Given the description of an element on the screen output the (x, y) to click on. 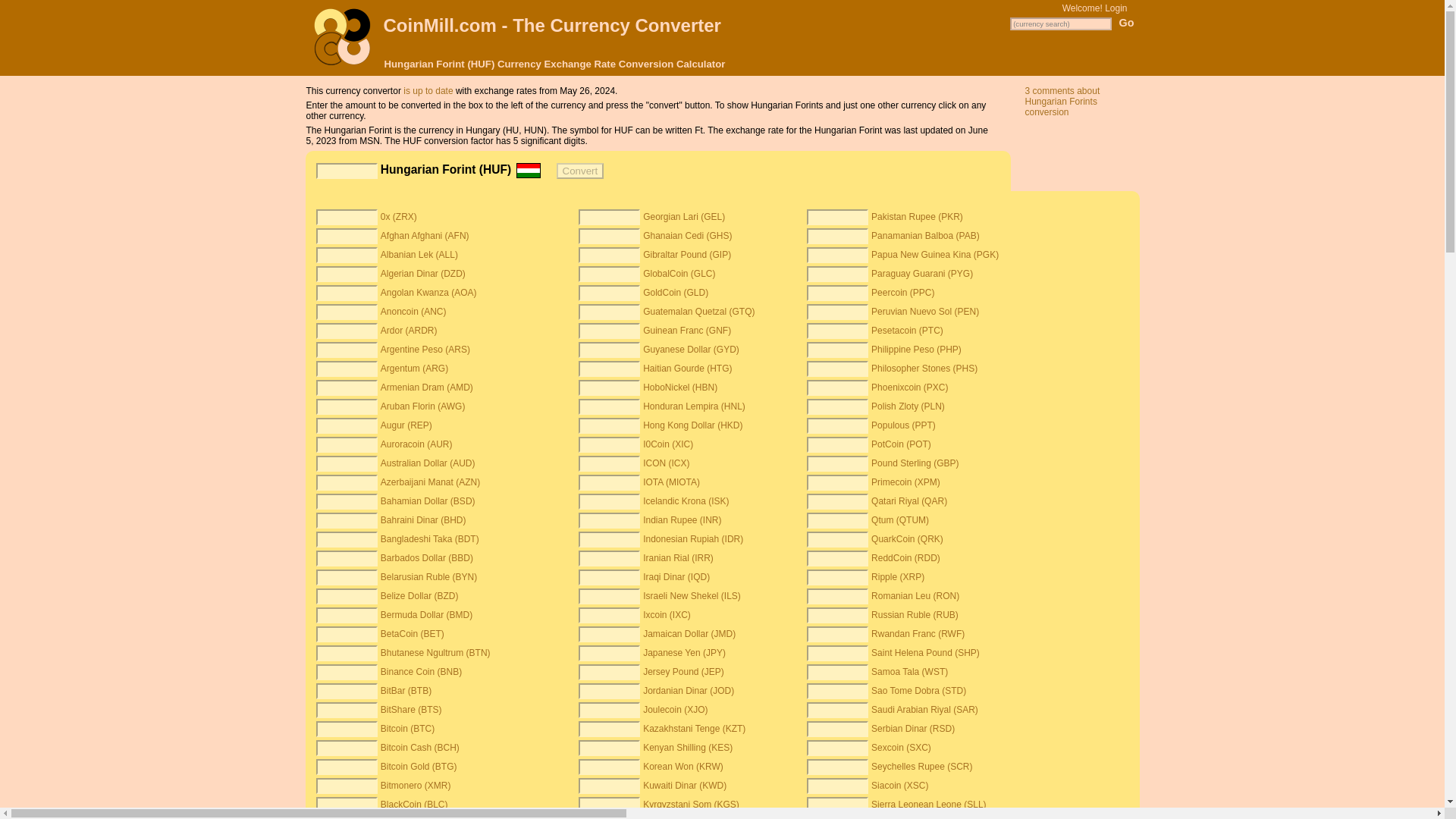
Login (1115, 8)
Hungary (528, 170)
Convert (580, 170)
is up to date (427, 90)
Go (1126, 22)
Convert (580, 170)
CoinMill.com - The Currency Converter (552, 25)
3 comments about Hungarian Forints conversion (1062, 101)
Go (1126, 22)
